Given the description of an element on the screen output the (x, y) to click on. 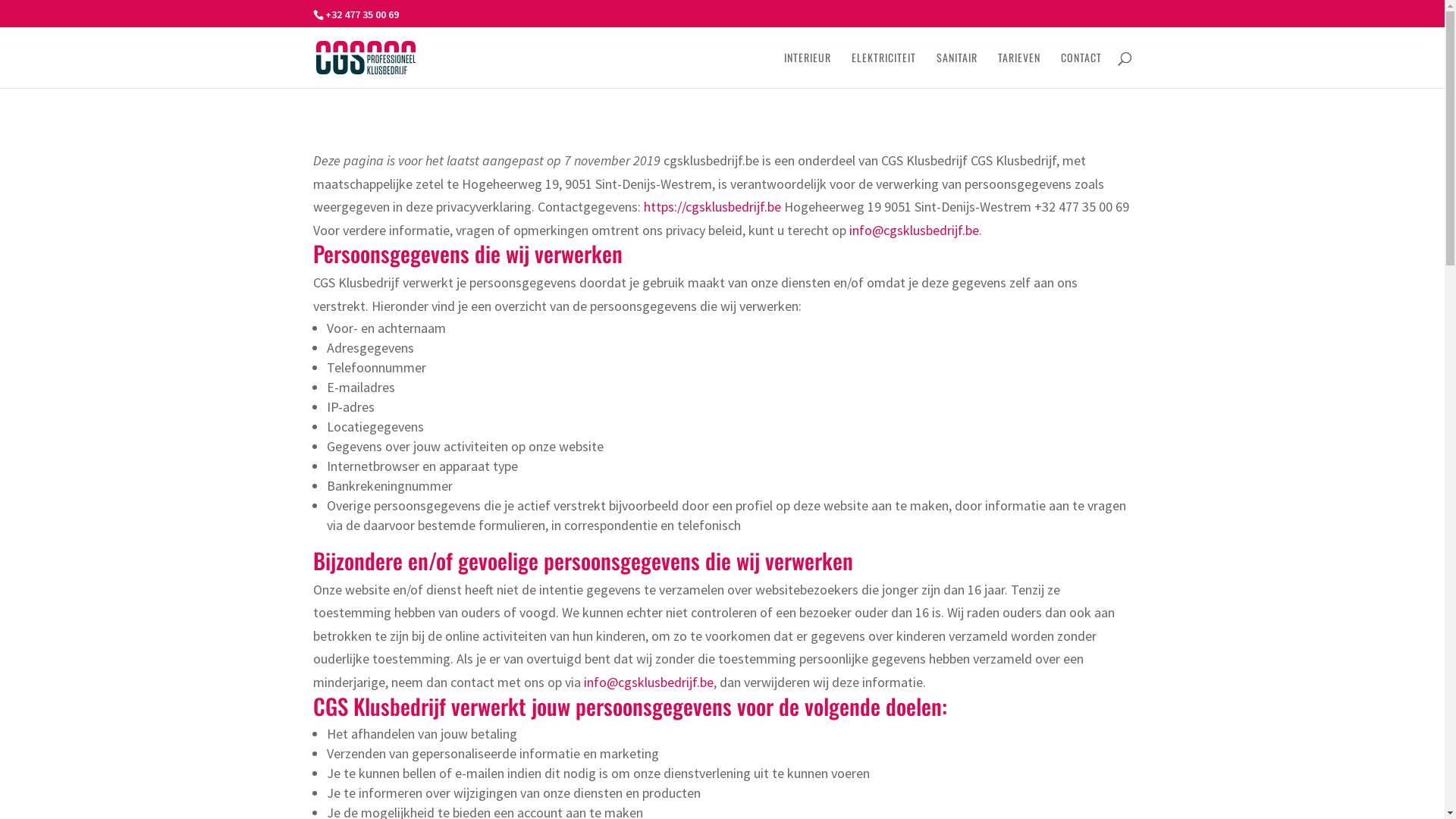
ELEKTRICITEIT Element type: text (882, 69)
CONTACT Element type: text (1080, 69)
https://cgsklusbedrijf.be Element type: text (711, 206)
INTERIEUR Element type: text (807, 69)
info@cgsklusbedrijf.be Element type: text (648, 681)
info@cgsklusbedrijf.be Element type: text (914, 229)
SANITAIR Element type: text (955, 69)
TARIEVEN Element type: text (1018, 69)
